Given the description of an element on the screen output the (x, y) to click on. 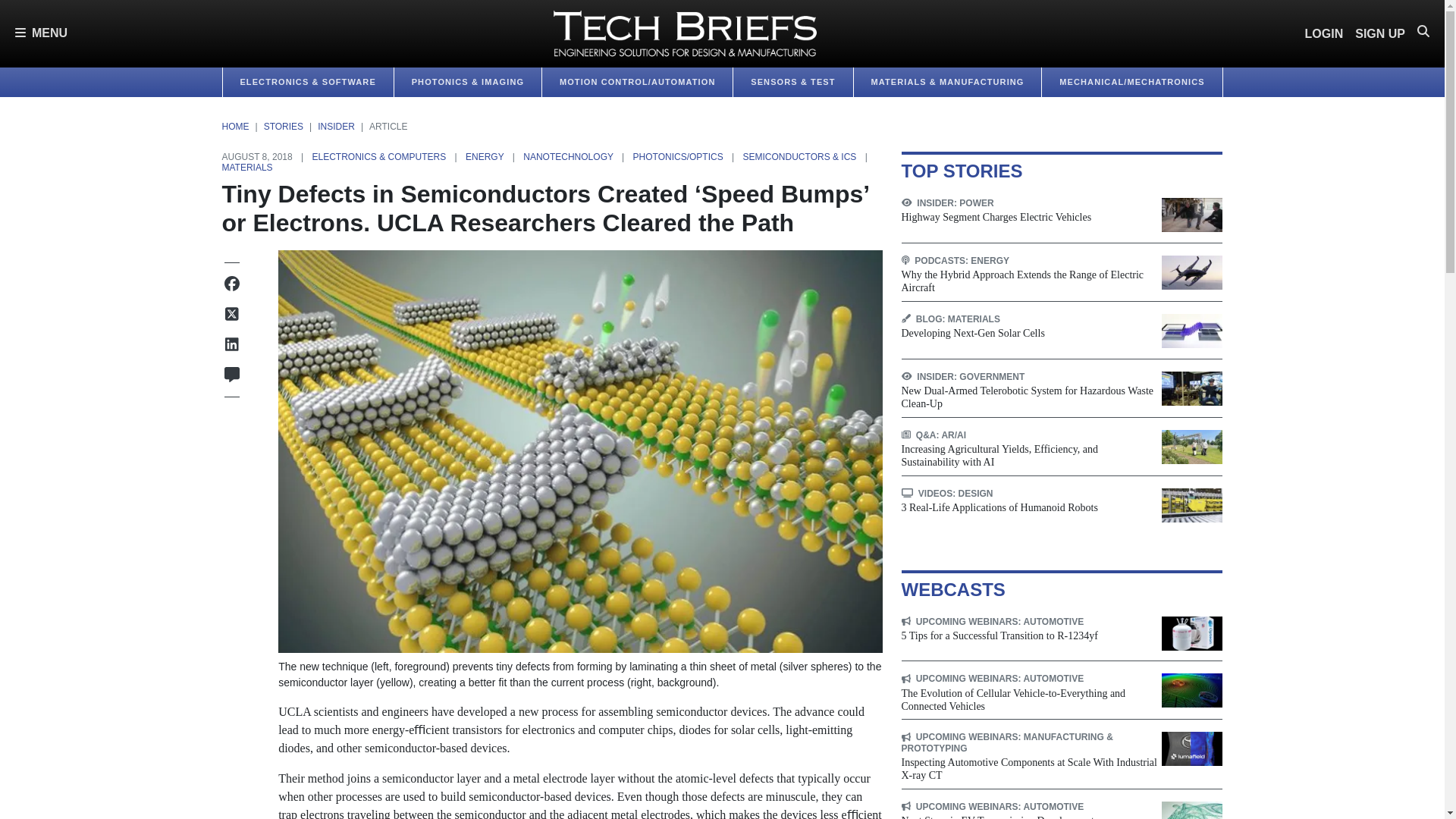
MENU (41, 33)
LOGIN (1323, 32)
SIGN UP (1379, 32)
